Given the description of an element on the screen output the (x, y) to click on. 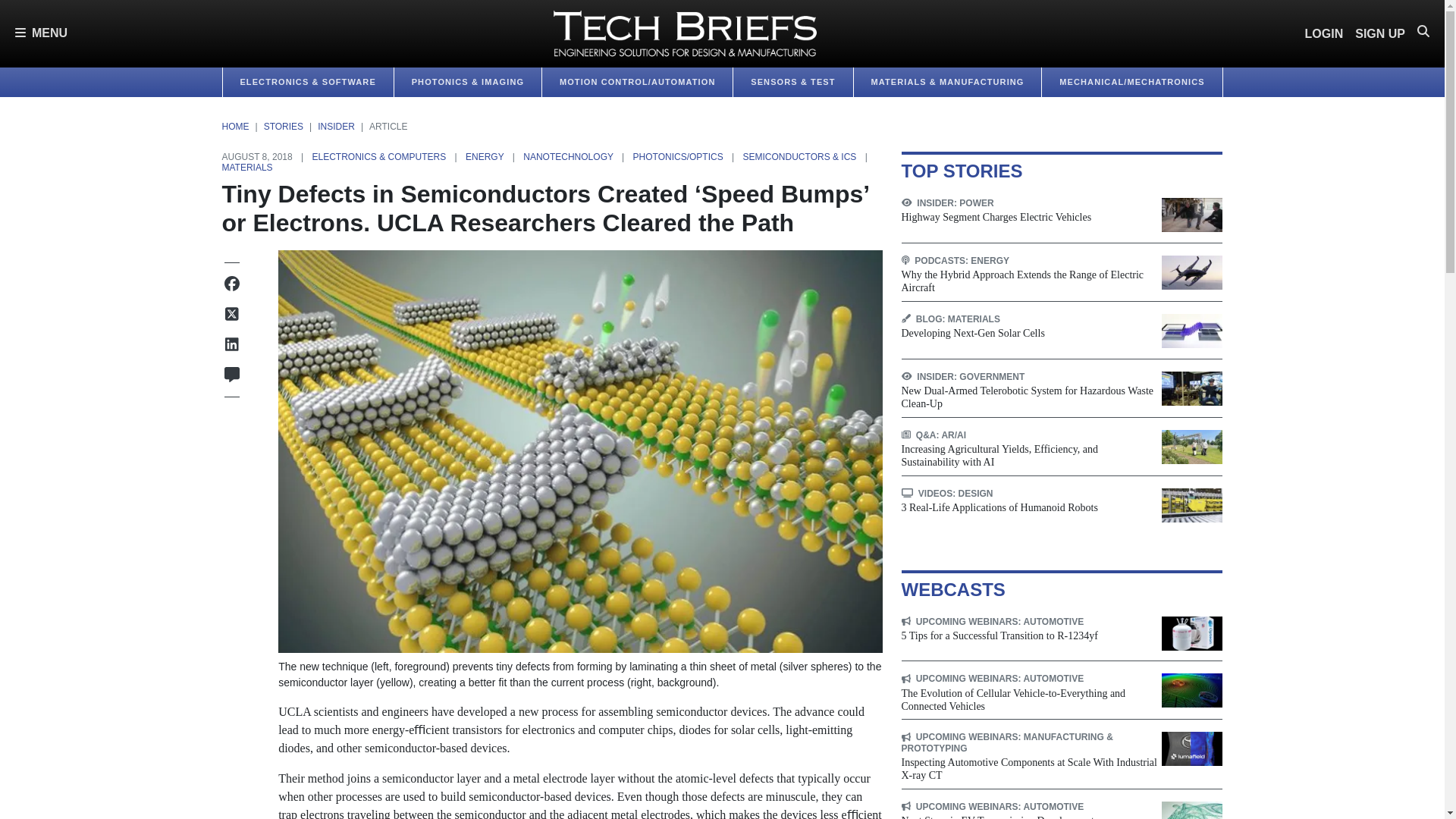
MENU (41, 33)
LOGIN (1323, 32)
SIGN UP (1379, 32)
